Given the description of an element on the screen output the (x, y) to click on. 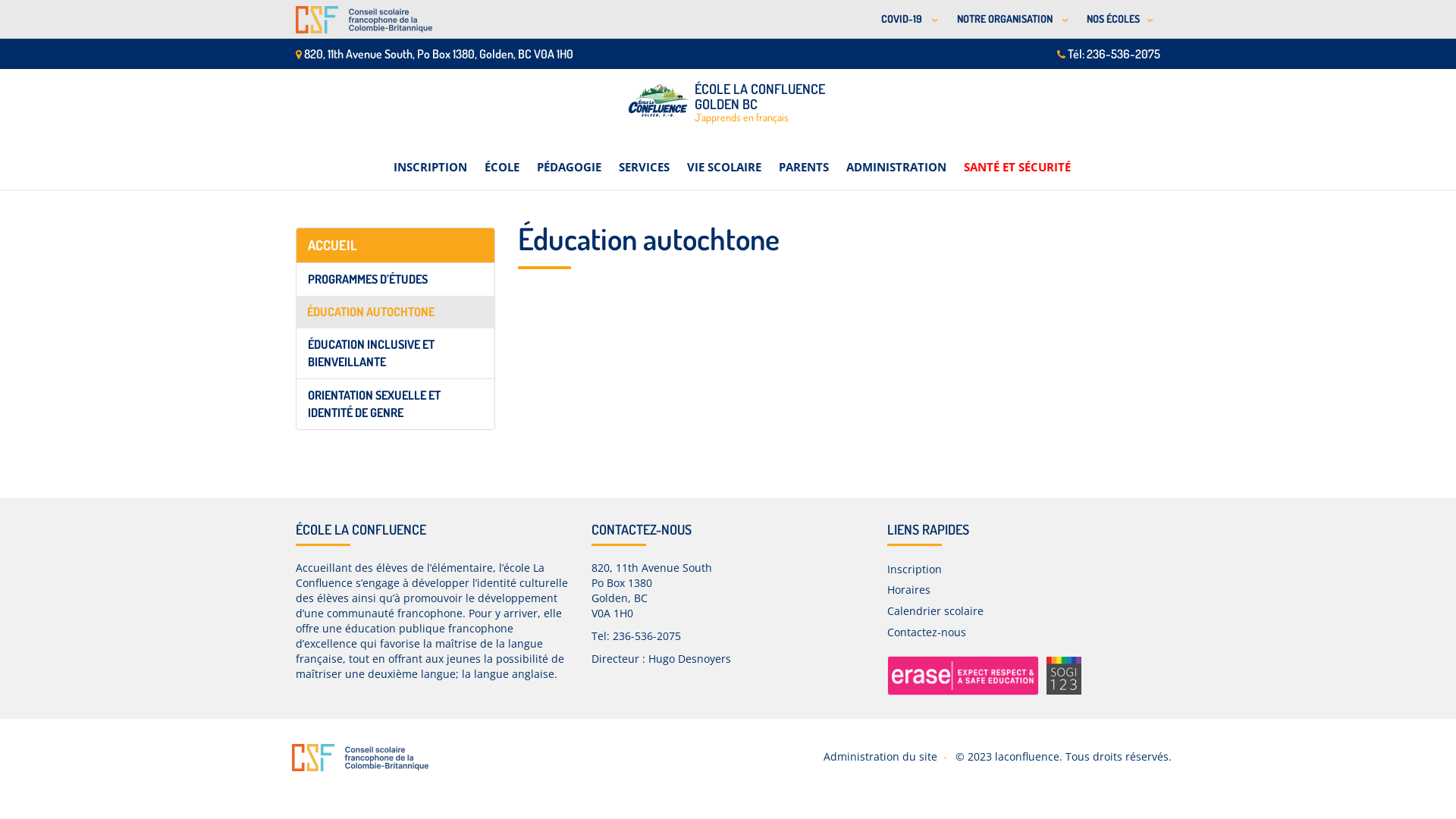
INSCRIPTION Element type: text (429, 158)
COVID-19  Element type: text (906, 19)
Inscription Element type: text (914, 568)
Calendrier scolaire Element type: text (935, 610)
VIE SCOLAIRE Element type: text (724, 158)
ACCUEIL Element type: text (395, 245)
PARENTS Element type: text (803, 158)
SERVICES Element type: text (643, 158)
Horaires Element type: text (908, 589)
Contactez-nous Element type: text (926, 631)
NOTRE ORGANISATION  Element type: text (1009, 19)
Hugo Desnoyers Element type: text (689, 658)
ADMINISTRATION Element type: text (896, 158)
Administration du site Element type: text (880, 756)
